Given the description of an element on the screen output the (x, y) to click on. 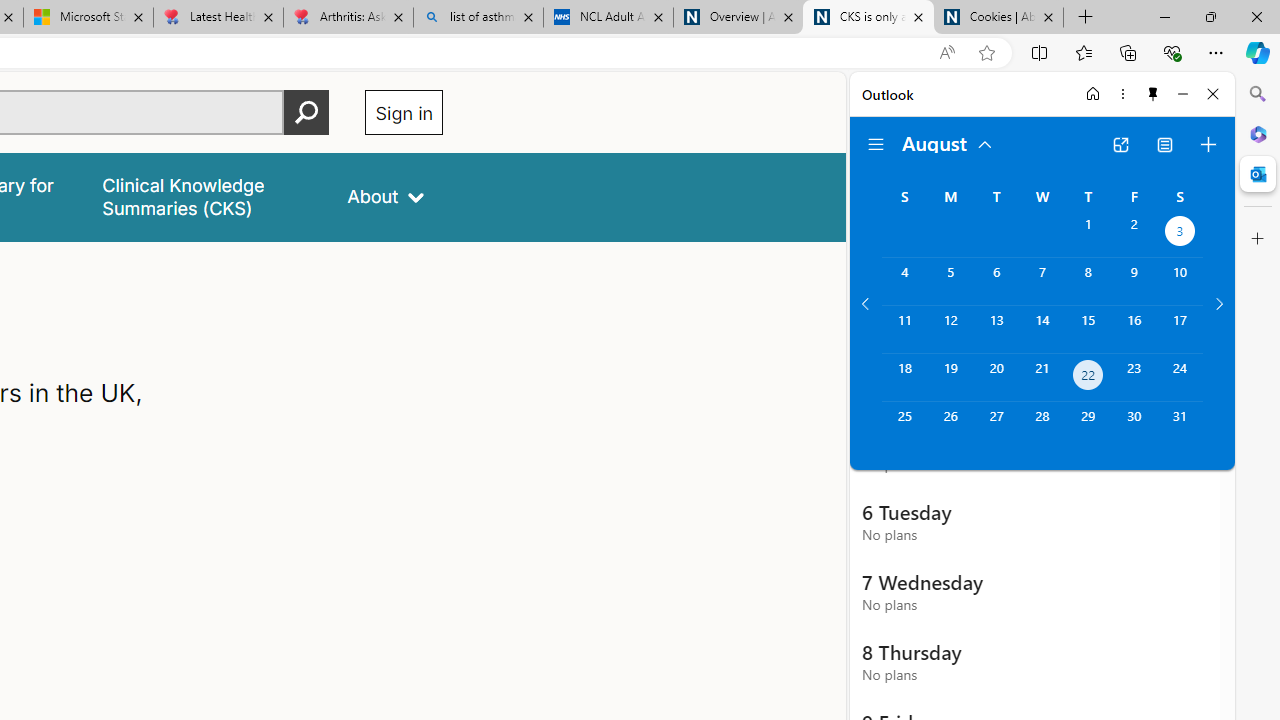
View Switcher. Current view is Agenda view (1165, 144)
Sign in (404, 112)
Tuesday, August 20, 2024.  (996, 377)
Friday, August 9, 2024.  (1134, 281)
Saturday, August 17, 2024.  (1180, 329)
Wednesday, August 28, 2024.  (1042, 425)
false (207, 196)
